Given the description of an element on the screen output the (x, y) to click on. 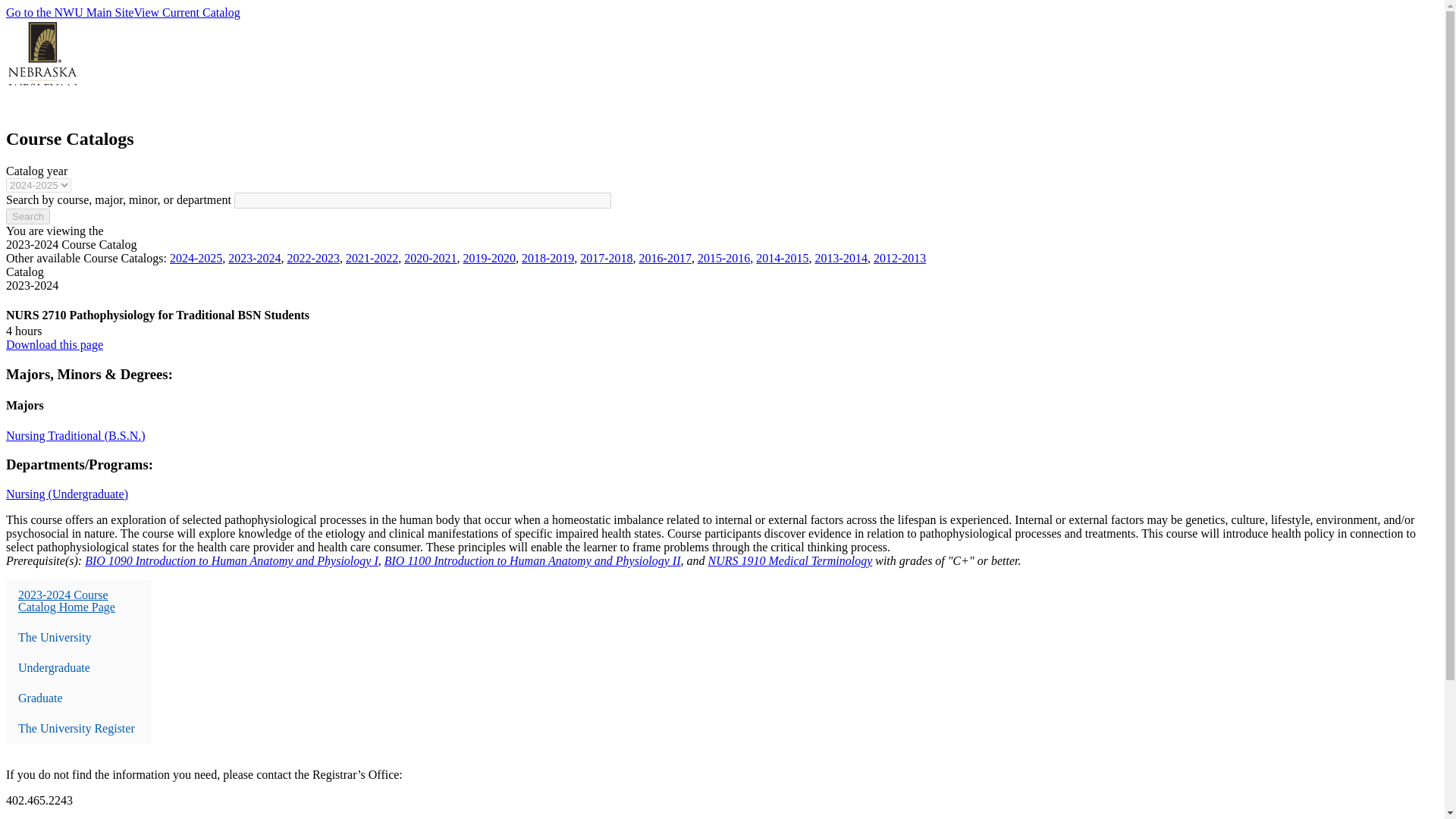
Go to the NWU Main Site (69, 11)
2023-2024 (254, 257)
2012-2013 (899, 257)
2023-2024 Course Catalog Home Page (78, 600)
BIO 1090 Introduction to Human Anatomy and Physiology I (231, 560)
2014-2015 (781, 257)
2019-2020 (489, 257)
2013-2014 (841, 257)
2021-2022 (371, 257)
2022-2023 (312, 257)
